Given the description of an element on the screen output the (x, y) to click on. 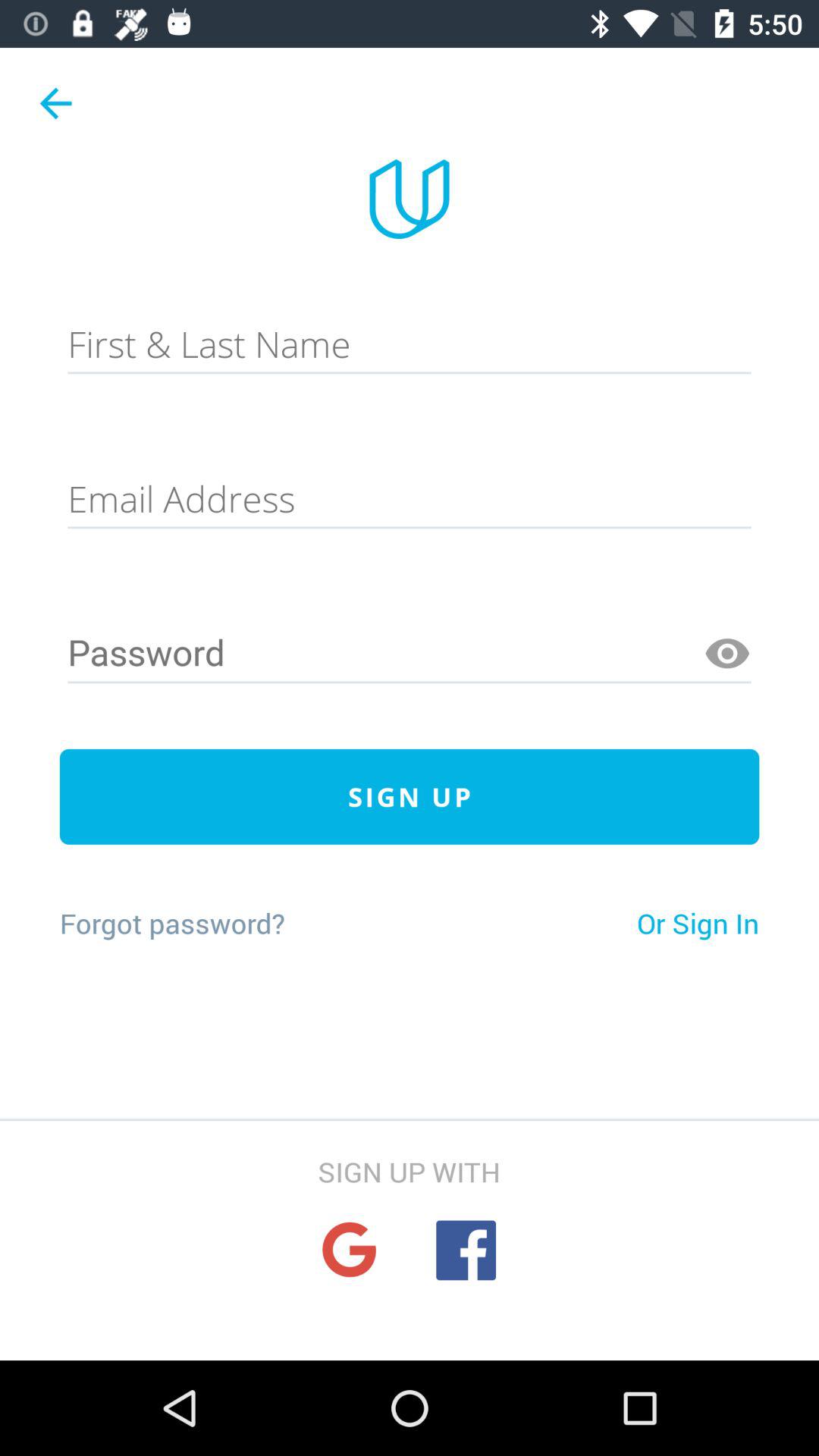
press the forgot password? item (171, 922)
